Given the description of an element on the screen output the (x, y) to click on. 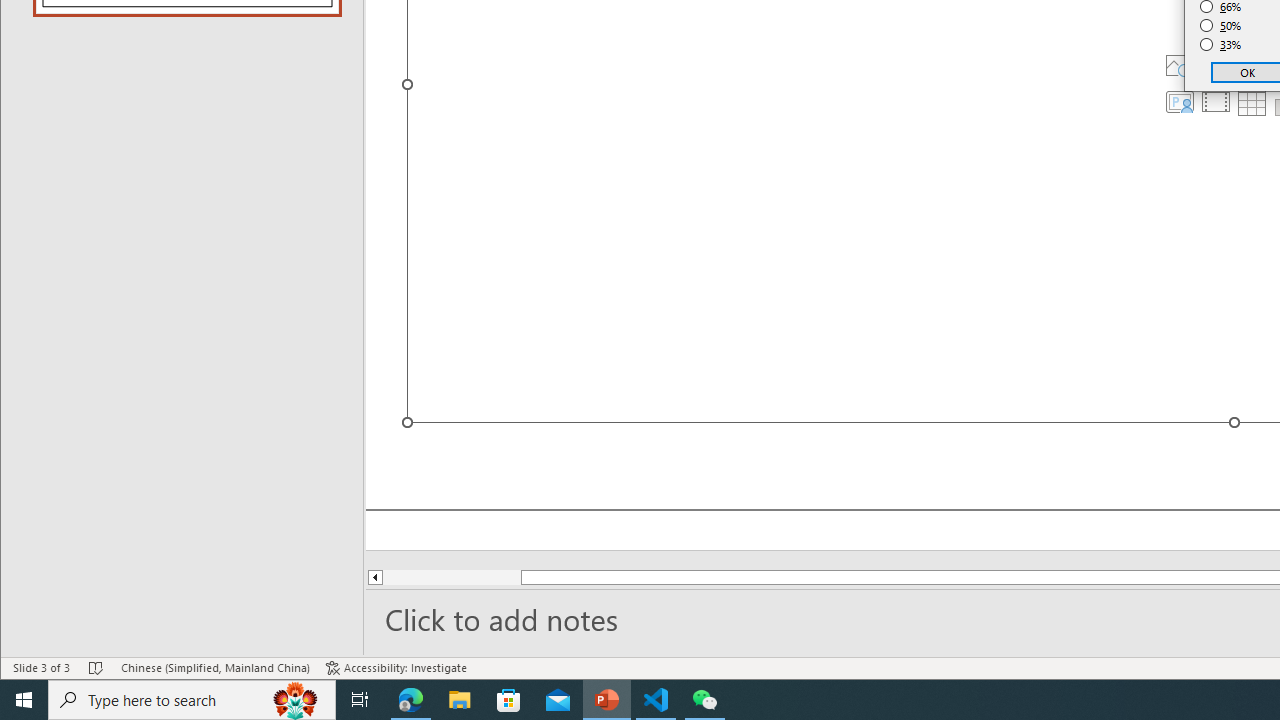
33% (1221, 44)
50% (1221, 25)
WeChat - 1 running window (704, 699)
Microsoft Edge - 1 running window (411, 699)
